Given the description of an element on the screen output the (x, y) to click on. 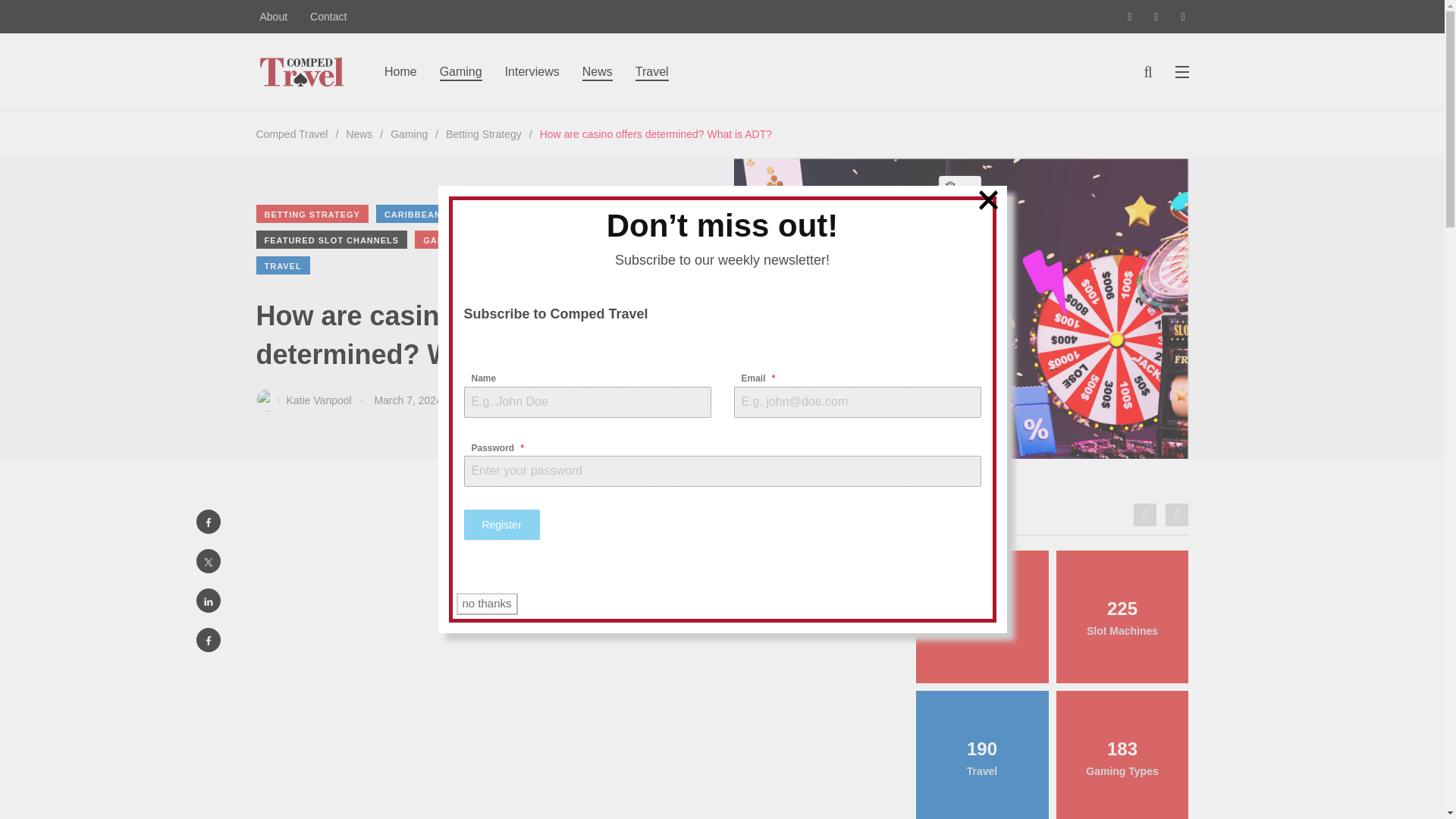
Betting Strategy (483, 133)
TRAVEL (283, 265)
Share on Twitter (207, 560)
Home (400, 72)
Share on Facebook (207, 521)
COMPS (632, 213)
Gaming (460, 72)
Like on Facebook (207, 639)
Go to Comped Travel. (292, 133)
Contact (328, 16)
Gaming (409, 133)
Katie Vanpool (304, 400)
Go to News. (359, 133)
CASINO OFFERS (550, 213)
